Given the description of an element on the screen output the (x, y) to click on. 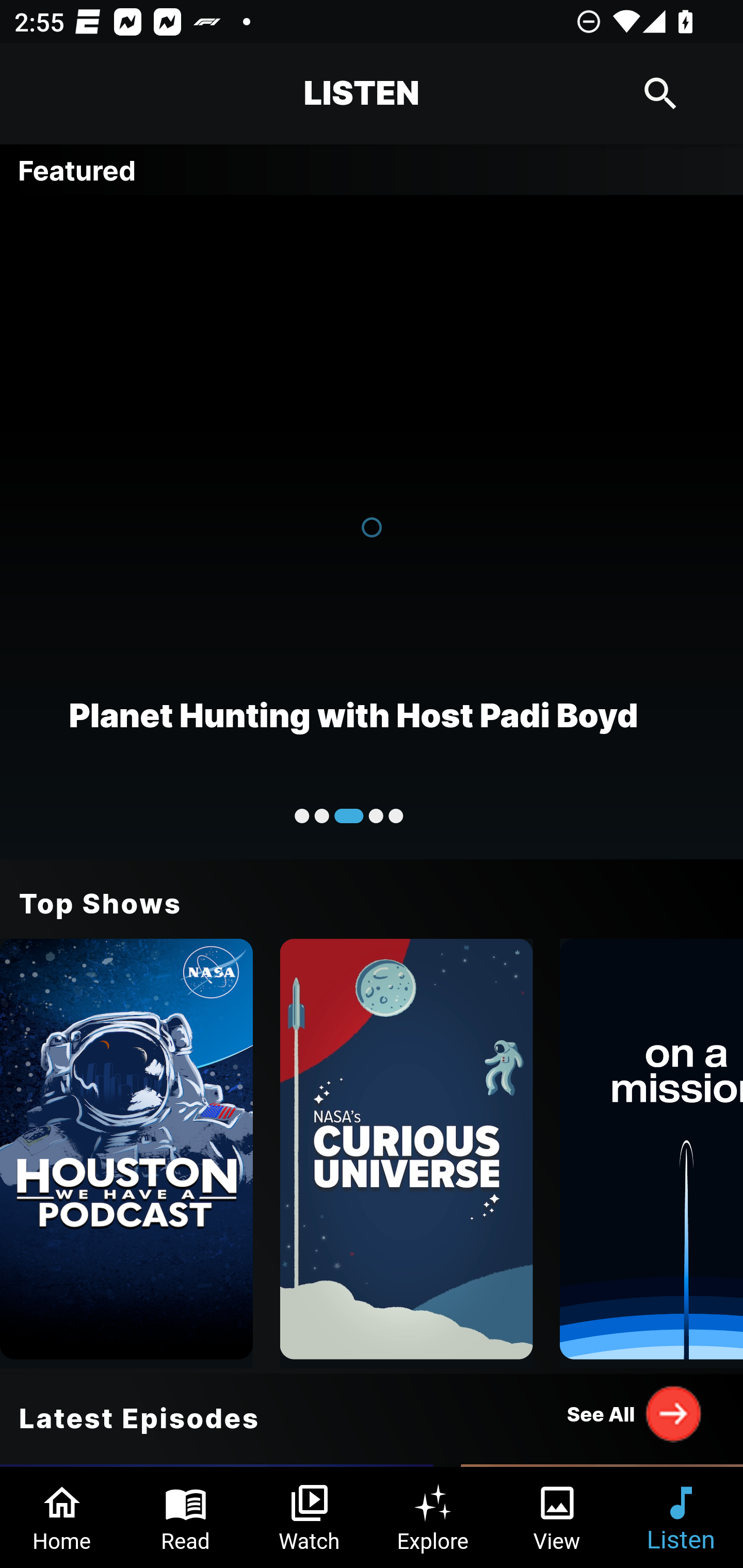
Planet Hunting with Host Padi Boyd (371, 526)
See All (634, 1413)
Home
Tab 1 of 6 (62, 1517)
Read
Tab 2 of 6 (185, 1517)
Watch
Tab 3 of 6 (309, 1517)
Explore
Tab 4 of 6 (433, 1517)
View
Tab 5 of 6 (556, 1517)
Listen
Tab 6 of 6 (680, 1517)
